Given the description of an element on the screen output the (x, y) to click on. 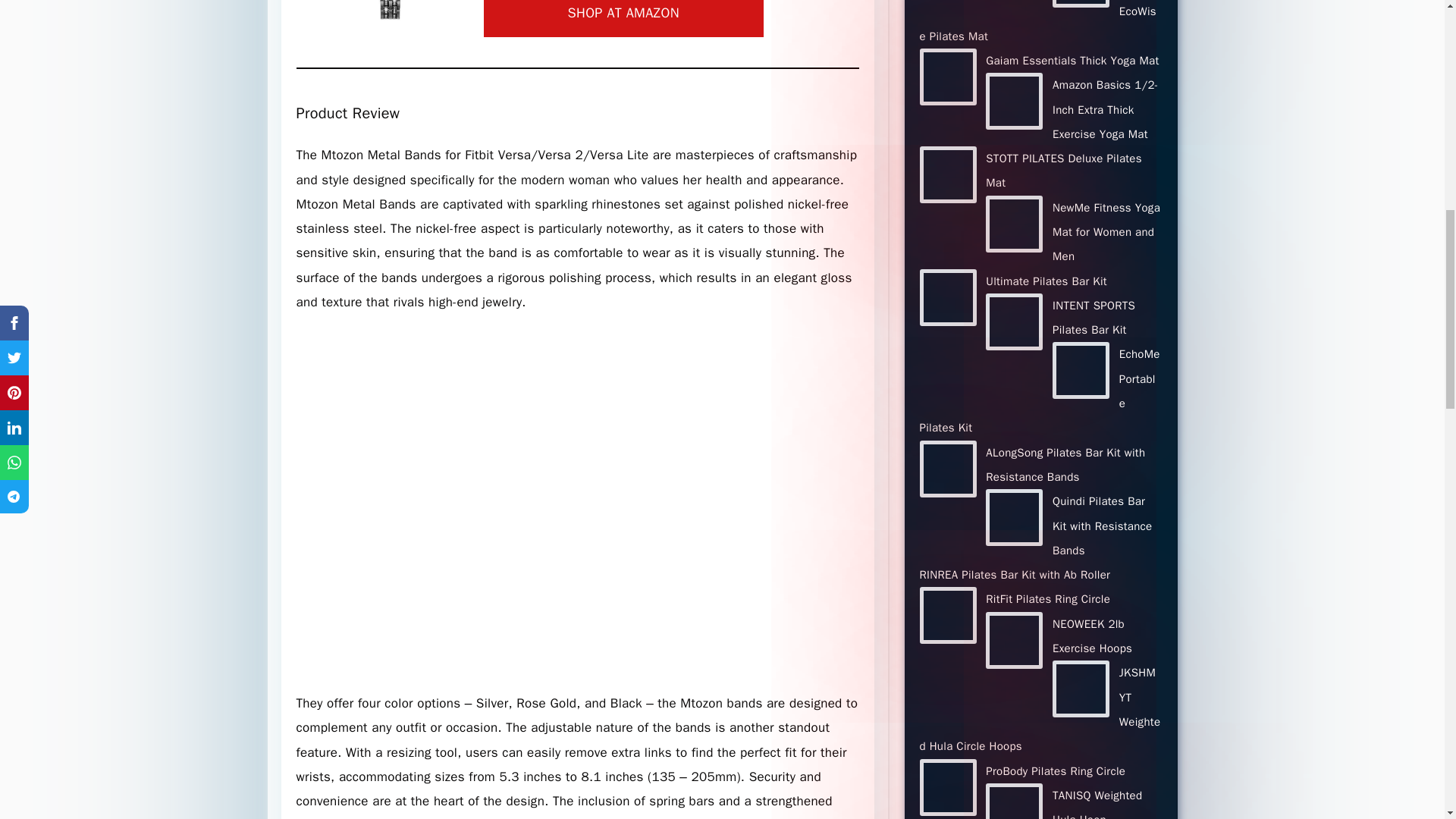
SHOP AT AMAZON (622, 18)
Scroll back to top (1406, 720)
